Given the description of an element on the screen output the (x, y) to click on. 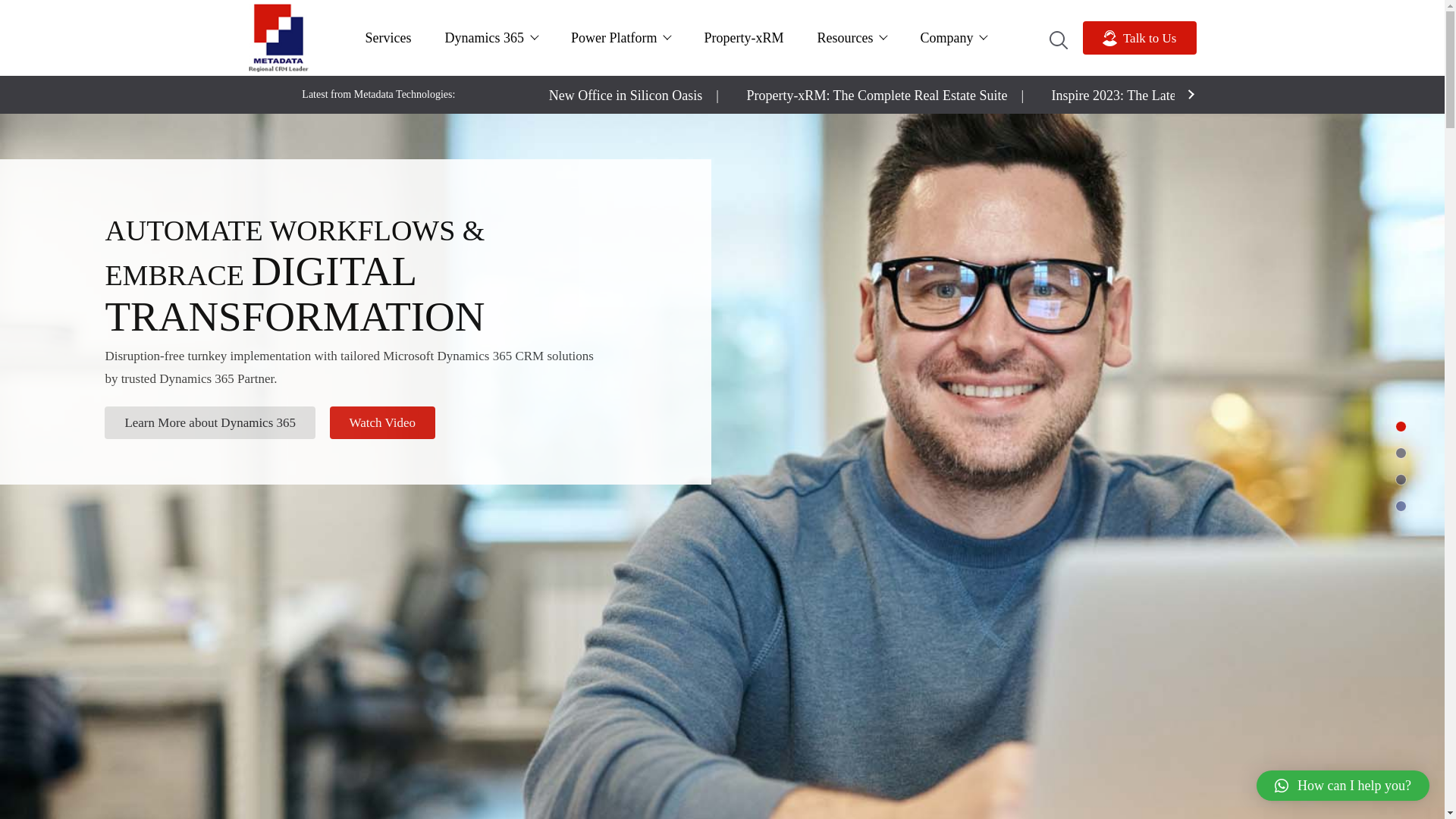
Watch Video (382, 422)
Services (388, 37)
Learn More about Dynamics 365 (209, 422)
Talk to Us (1139, 38)
Dynamics 365 (491, 37)
Resources (851, 37)
Company (952, 37)
Power Platform (619, 37)
Property-xRM (743, 37)
